Given the description of an element on the screen output the (x, y) to click on. 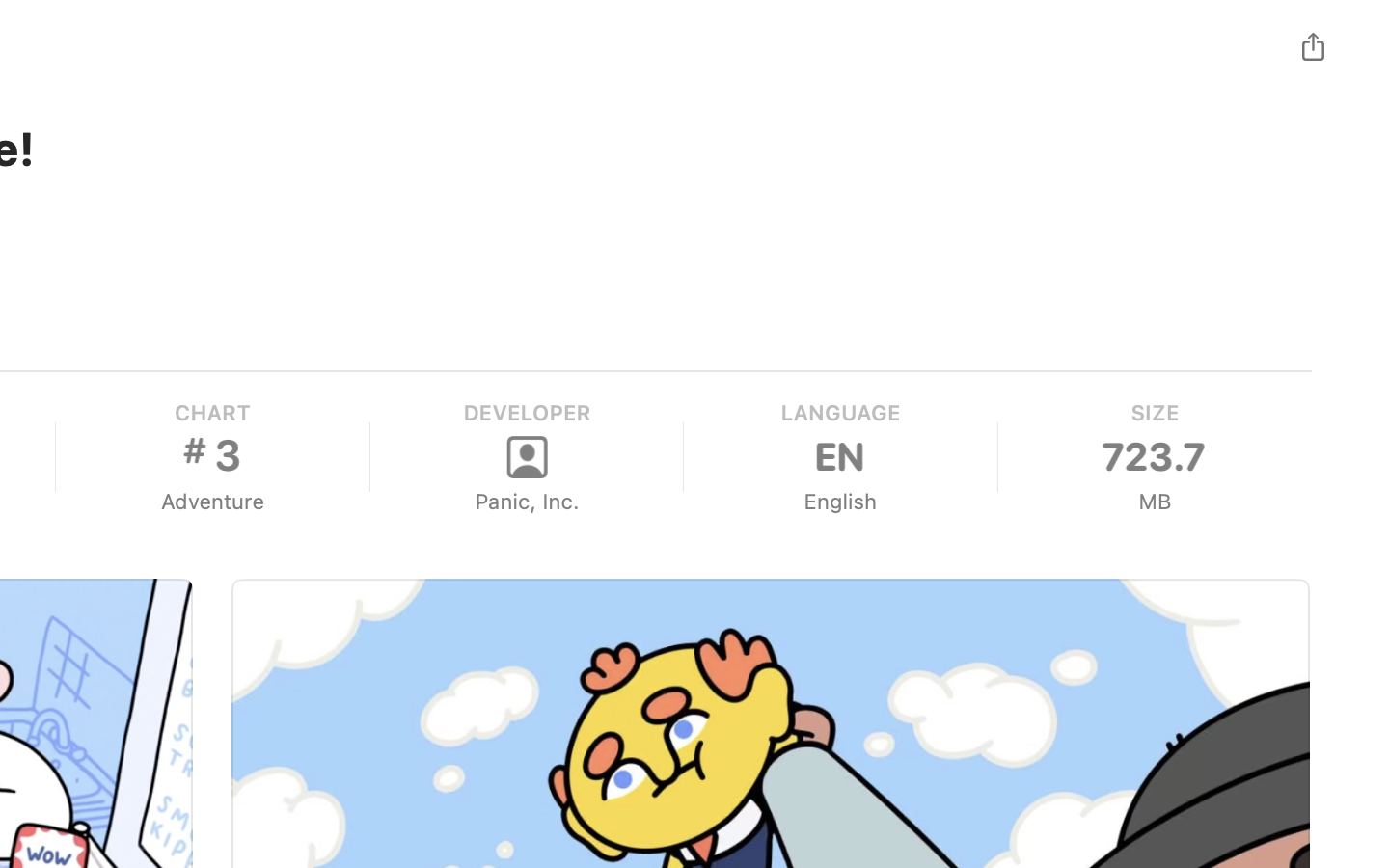
723.7 Element type: AXStaticText (1154, 457)
English, LANGUAGE, EN Element type: AXStaticText (839, 456)
# Element type: AXStaticText (194, 450)
English Element type: AXStaticText (839, 501)
Panic, Inc, DEVELOPER, selfie Element type: AXStaticText (526, 456)
